Given the description of an element on the screen output the (x, y) to click on. 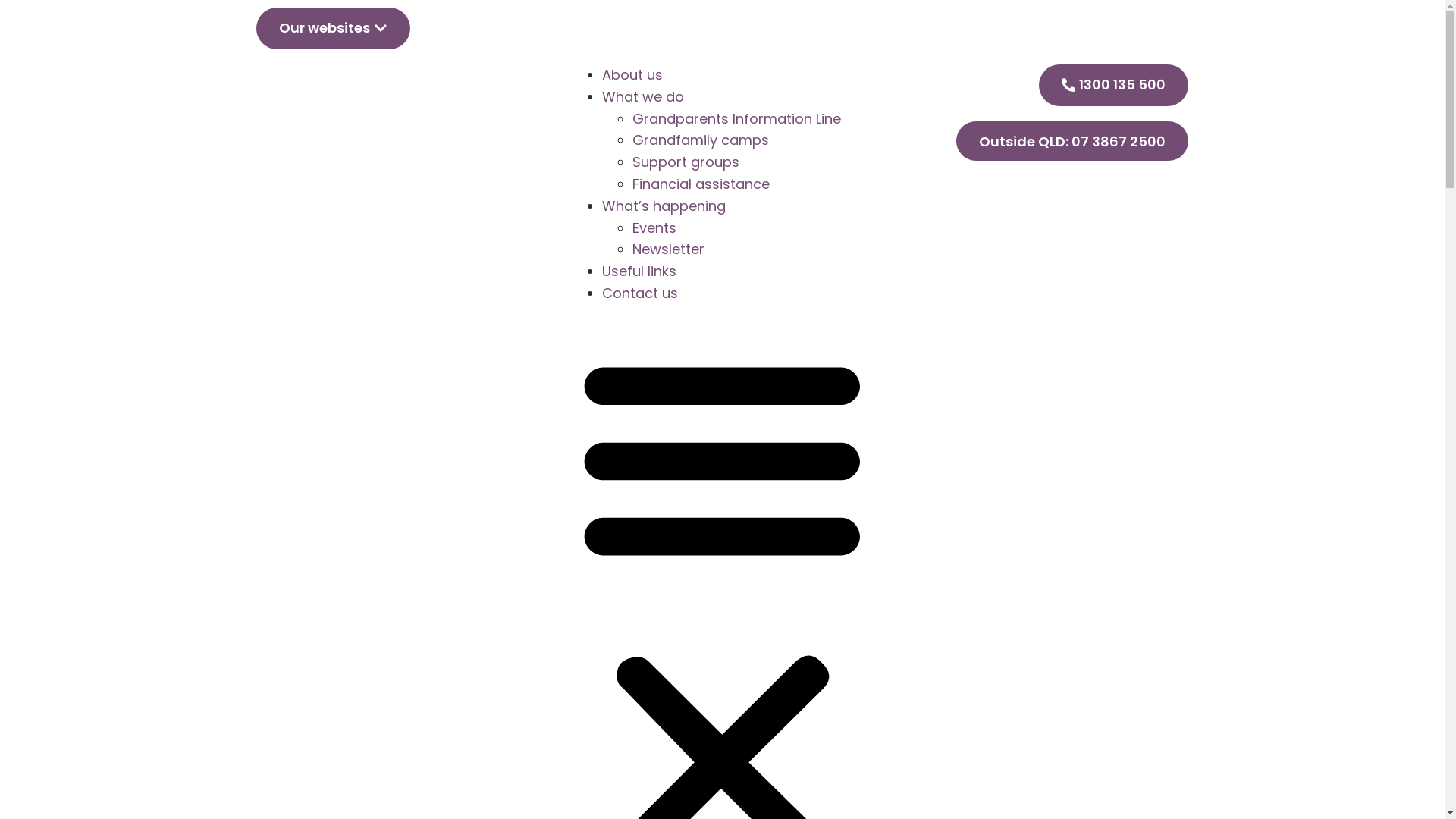
Our websites Element type: text (333, 28)
Newsletter Element type: text (668, 248)
1300 135 500 Element type: text (1113, 85)
Grandfamily camps Element type: text (700, 139)
What we do Element type: text (643, 96)
Contact us Element type: text (639, 292)
About us Element type: text (632, 74)
Outside QLD: 07 3867 2500 Element type: text (1072, 140)
Grandparents Information Line  Element type: text (738, 118)
Financial assistance Element type: text (700, 183)
Useful links Element type: text (639, 270)
Support groups Element type: text (685, 161)
Events Element type: text (654, 227)
